Given the description of an element on the screen output the (x, y) to click on. 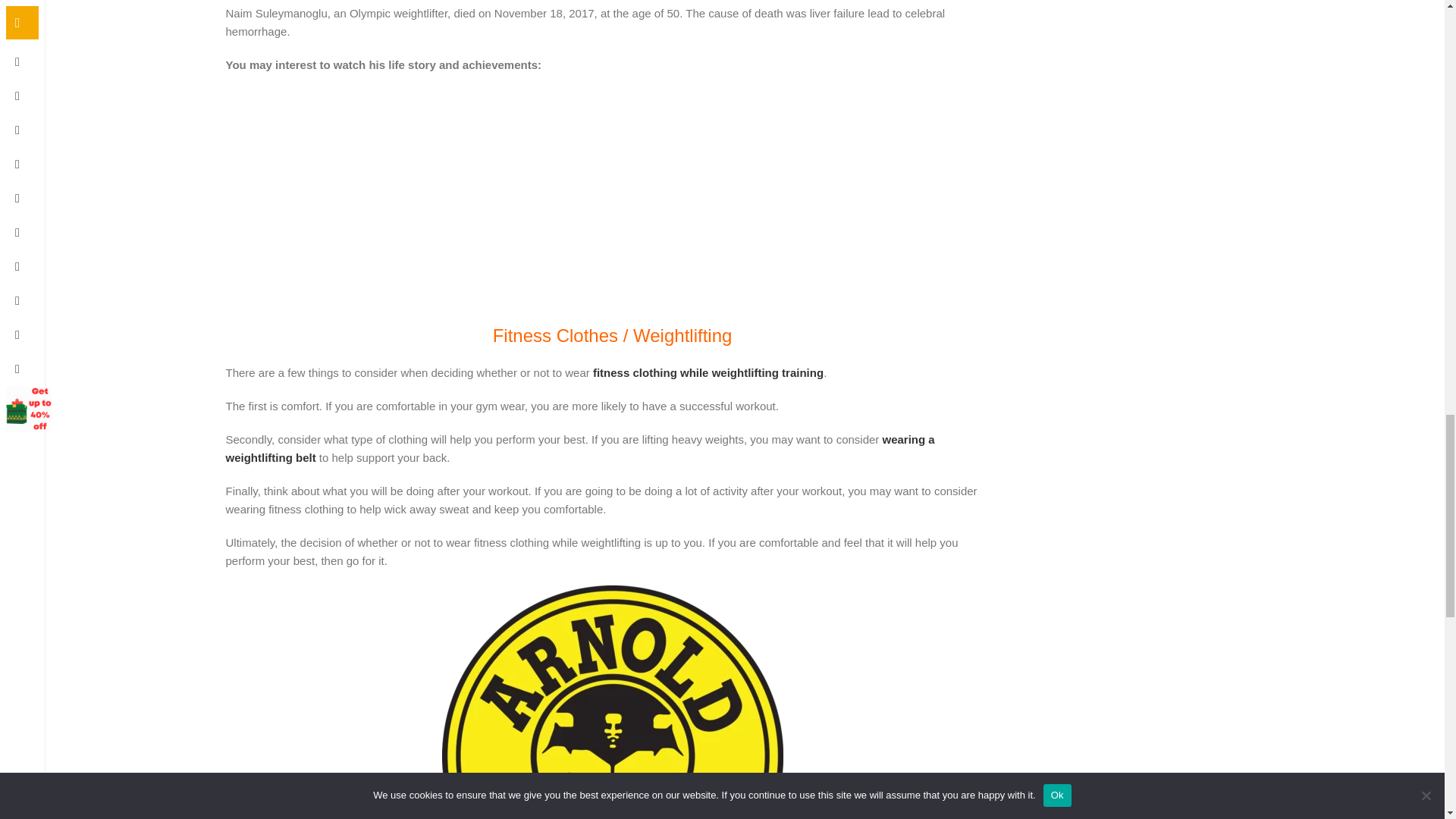
fitness clothing while weightlifting training (708, 372)
wearing a weightlifting belt (579, 448)
cropped cropped Arnold logo R Colour 1 (612, 702)
